Given the description of an element on the screen output the (x, y) to click on. 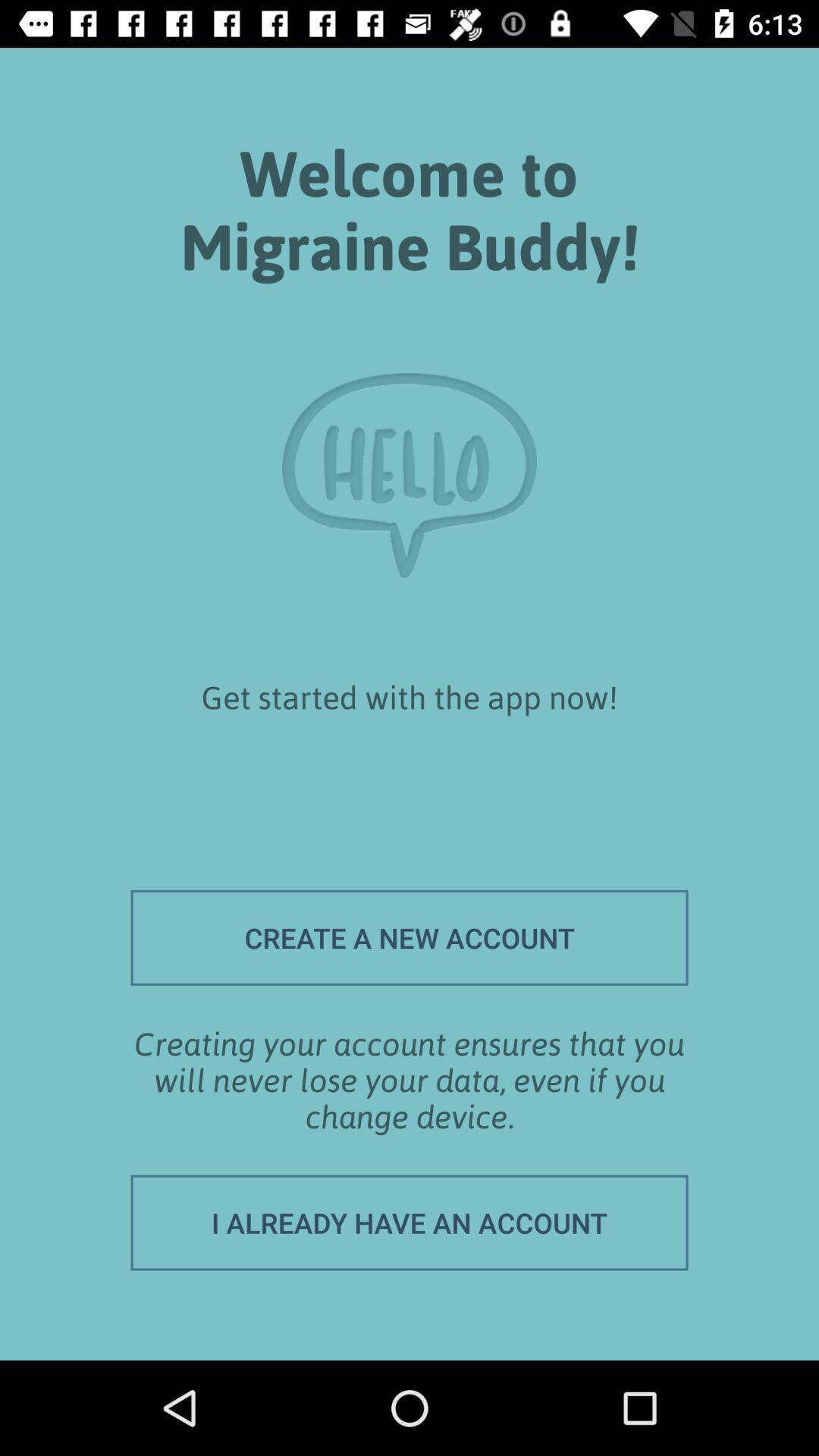
open the create a new item (409, 937)
